Given the description of an element on the screen output the (x, y) to click on. 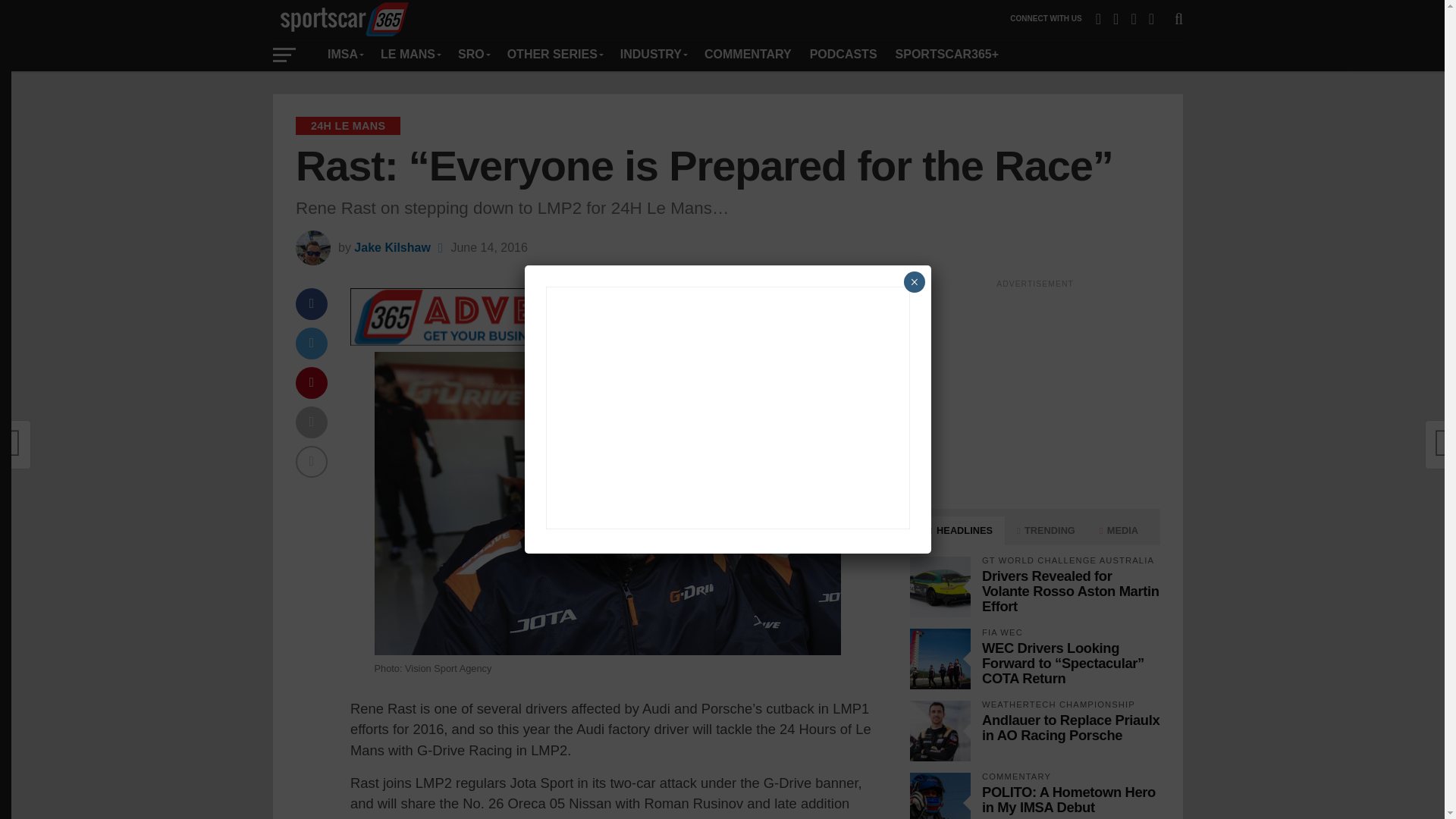
Posts by Jake Kilshaw (391, 246)
3rd party ad content (1034, 391)
